Given the description of an element on the screen output the (x, y) to click on. 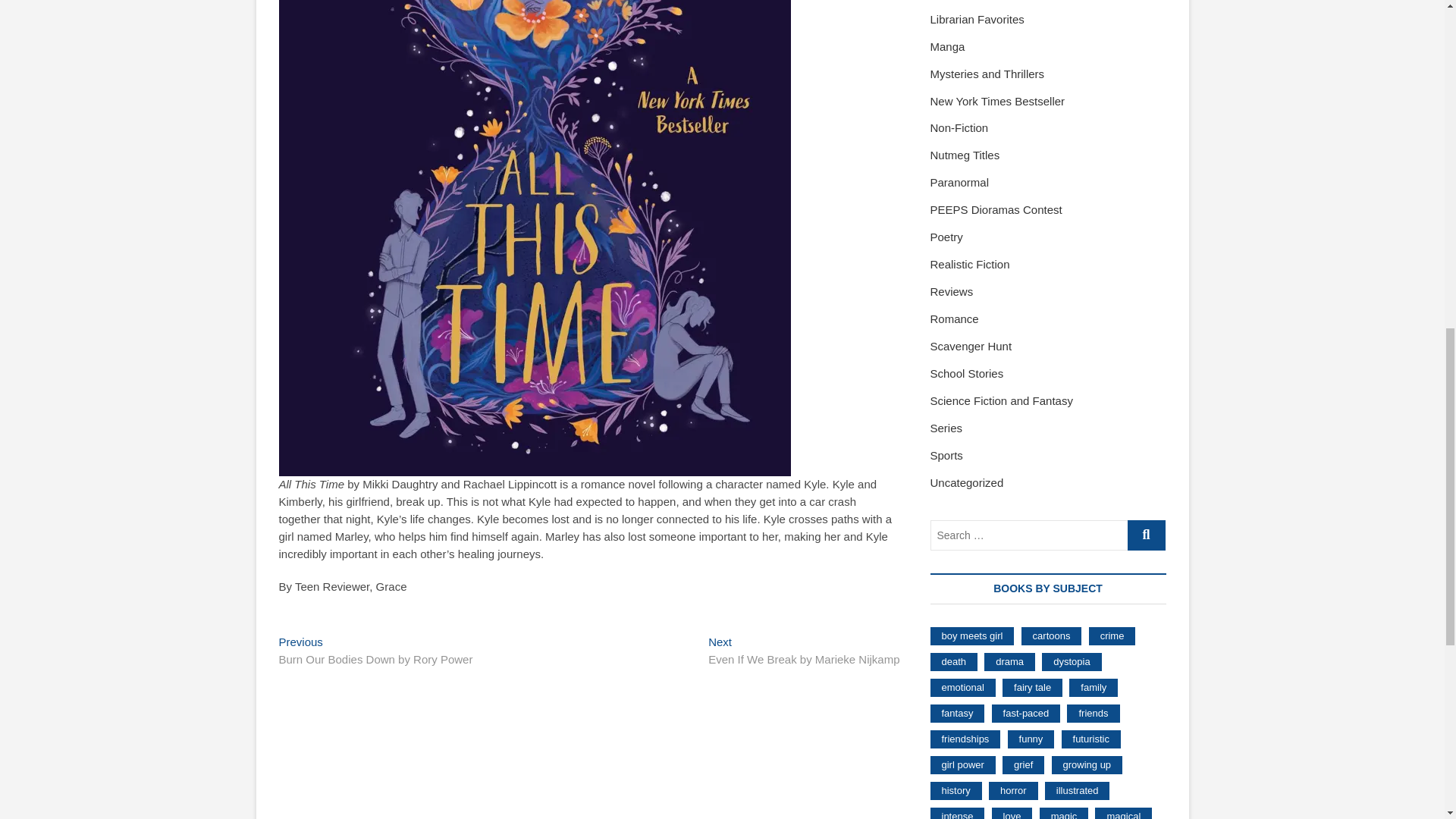
Librarian Favorites (976, 19)
